Given the description of an element on the screen output the (x, y) to click on. 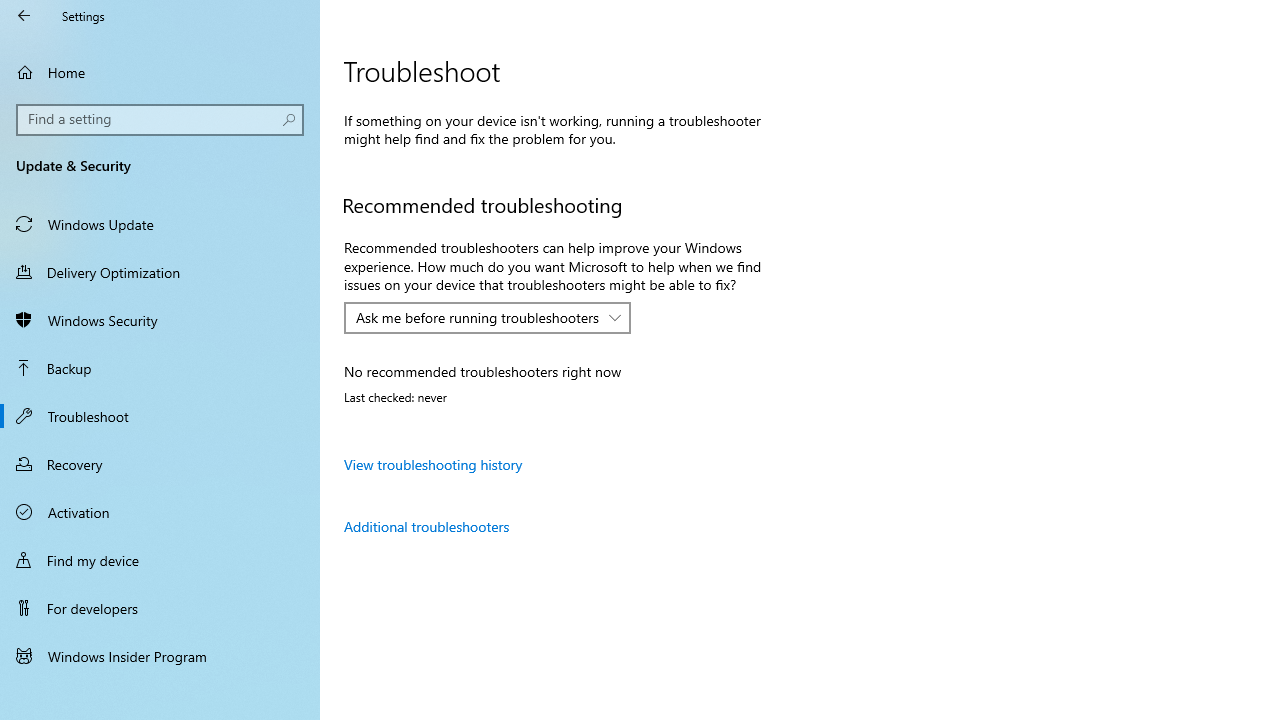
Ask me before running troubleshooters (477, 317)
Troubleshoot (160, 415)
Backup (160, 367)
Home (160, 71)
Windows Insider Program (160, 655)
View troubleshooting history (433, 464)
Activation (160, 511)
Windows Update (160, 223)
Find my device (160, 559)
Delivery Optimization (160, 271)
Back (24, 15)
For developers (160, 607)
Additional troubleshooters (426, 525)
Recovery (160, 463)
